Given the description of an element on the screen output the (x, y) to click on. 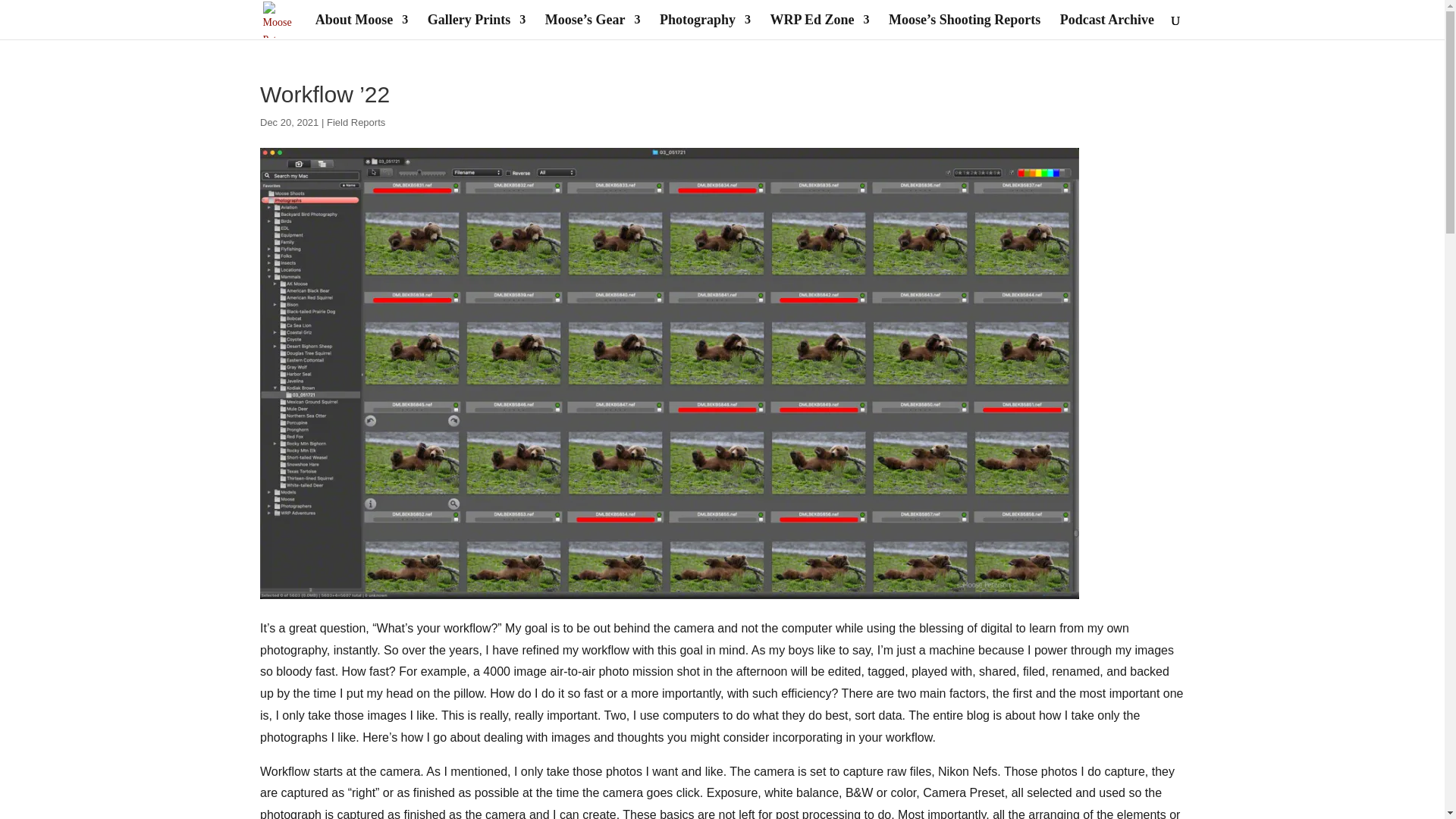
WRP Ed Zone (819, 26)
Podcast Archive (1106, 26)
Gallery Prints (476, 26)
Photography (705, 26)
Field Reports (355, 122)
About Moose (362, 26)
